Given the description of an element on the screen output the (x, y) to click on. 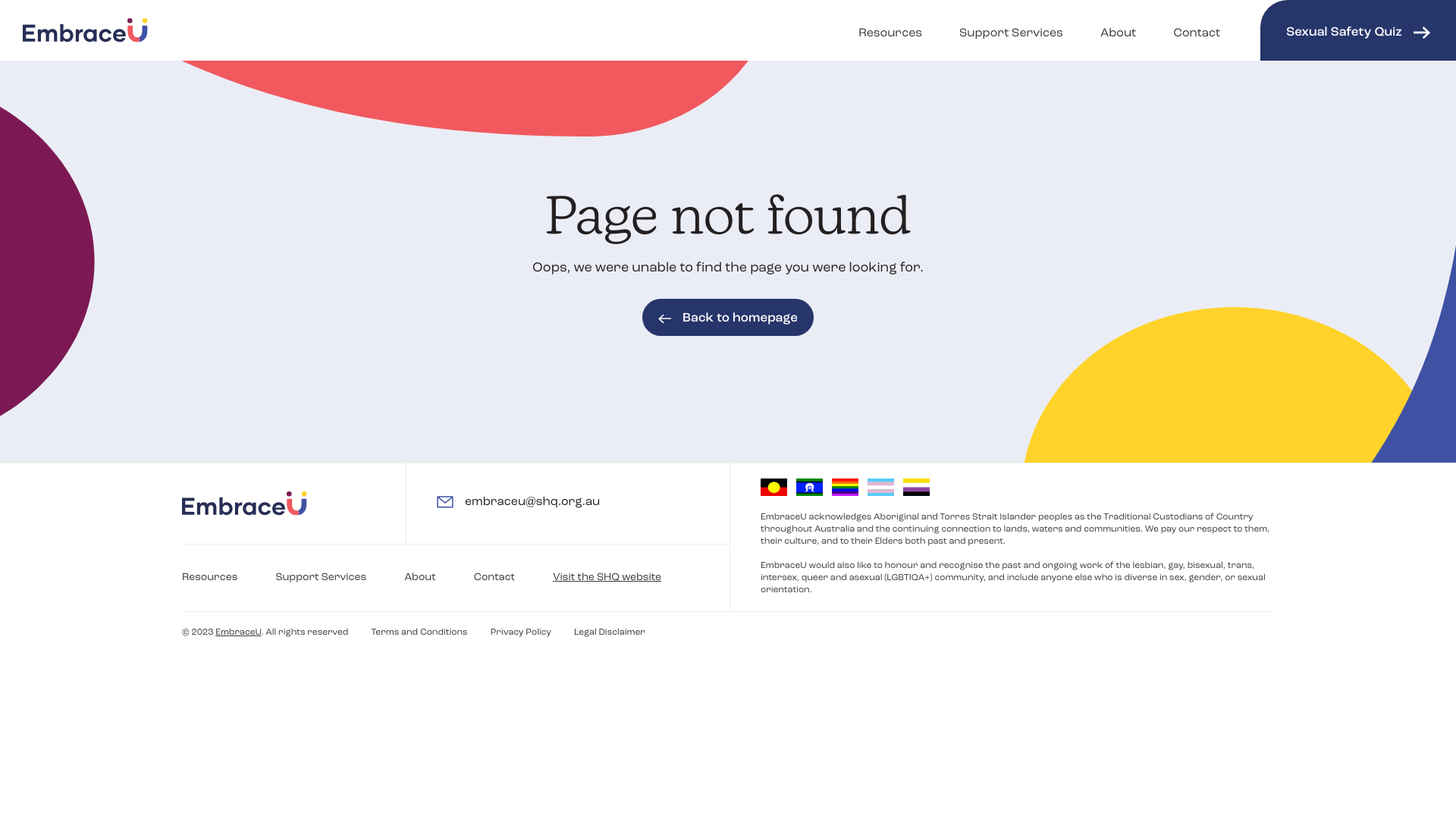
Support Services Element type: text (1011, 30)
Back to homepage Element type: text (727, 317)
EmbraceU Homepage Element type: text (84, 30)
Resources Element type: text (209, 577)
EmbraceU Element type: text (237, 632)
embraceu@shq.org.au Element type: text (517, 501)
Terms and Conditions Element type: text (418, 632)
Skip to Content Element type: text (6, 6)
Contact Element type: text (1196, 30)
EmbraceU Homepage Element type: text (244, 503)
Resources Element type: text (890, 30)
Contact Element type: text (493, 577)
Visit the SHQ website Element type: text (606, 577)
About Element type: text (1117, 30)
Privacy Policy Element type: text (520, 632)
Support Services Element type: text (320, 577)
About Element type: text (420, 577)
Legal Disclaimer Element type: text (609, 632)
